Given the description of an element on the screen output the (x, y) to click on. 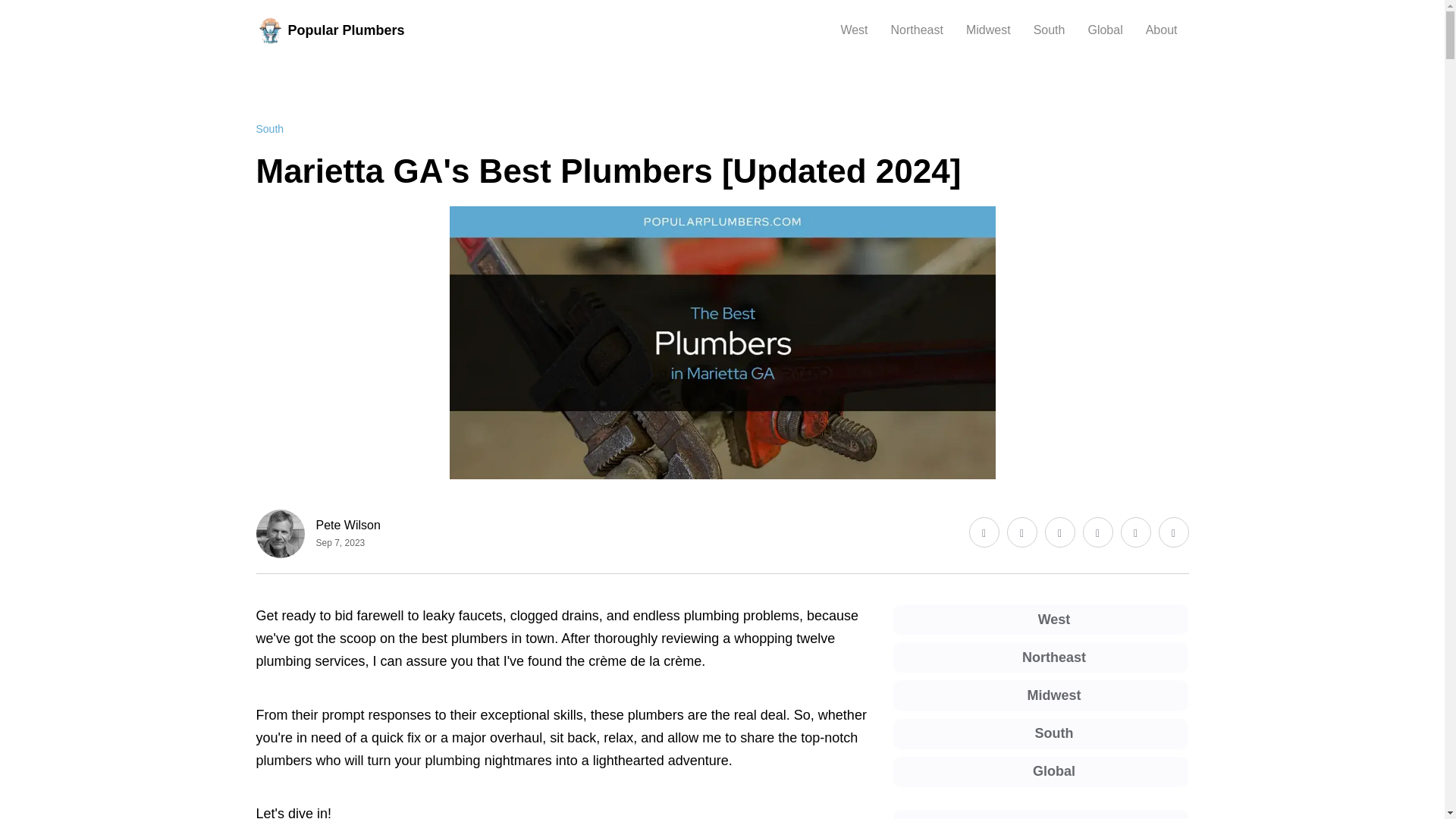
Pete Wilson (347, 525)
South (269, 128)
Popular Plumbers (330, 30)
